Given the description of an element on the screen output the (x, y) to click on. 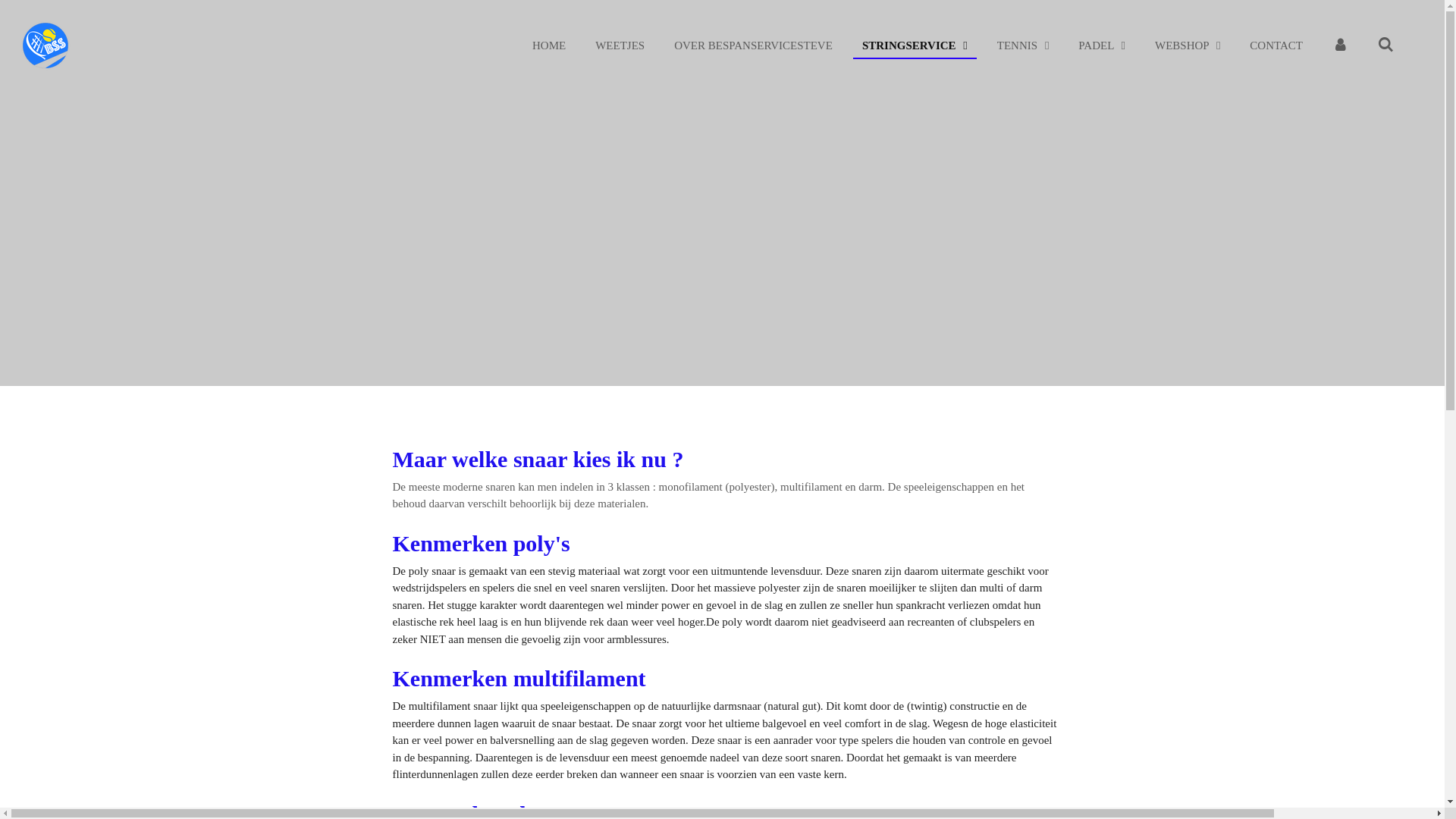
OVER BESPANSERVICESTEVE Element type: text (753, 45)
BespanServiceSteve Element type: hover (45, 45)
CONTACT Element type: text (1275, 45)
STRINGSERVICE Element type: text (914, 45)
Zoeken Element type: hover (1385, 45)
PADEL Element type: text (1101, 45)
Account Element type: hover (1340, 45)
WEBSHOP Element type: text (1187, 45)
WEETJES Element type: text (619, 45)
TENNIS Element type: text (1023, 45)
HOME Element type: text (548, 45)
